Given the description of an element on the screen output the (x, y) to click on. 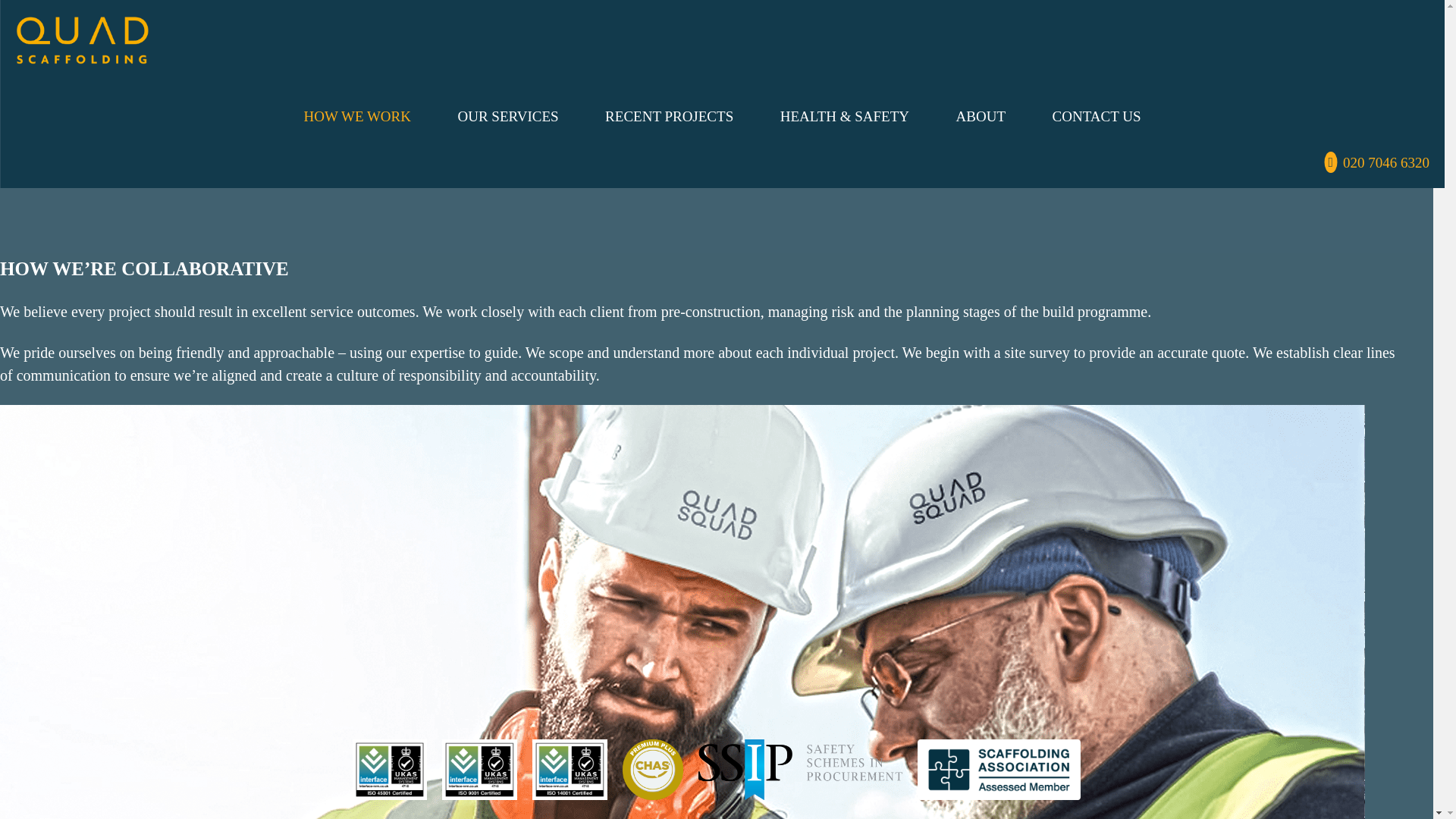
RECENT PROJECTS (668, 116)
OUR SERVICES (507, 116)
HOW WE WORK (358, 116)
ABOUT (981, 116)
CONTACT US (1096, 116)
